Given the description of an element on the screen output the (x, y) to click on. 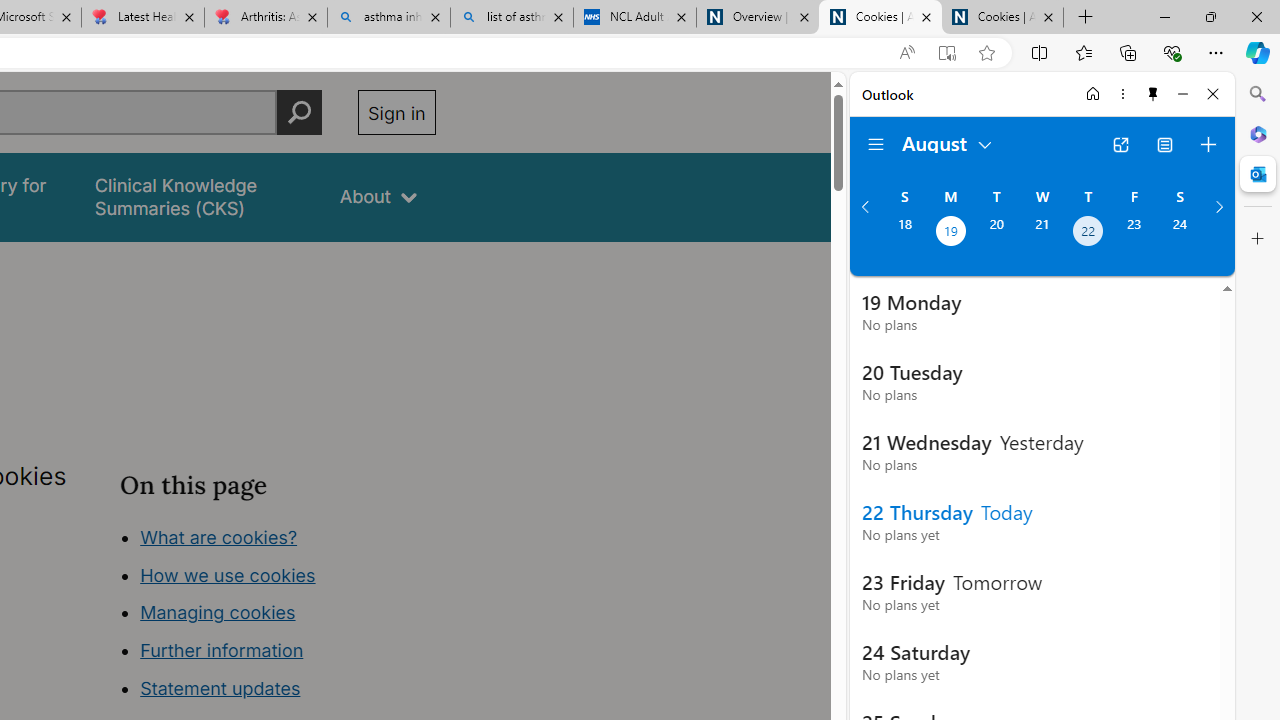
asthma inhaler - Search (388, 17)
Statement updates (219, 688)
What are cookies? (218, 536)
Further information (221, 650)
Managing cookies (217, 612)
Sunday, August 18, 2024.  (904, 233)
